Given the description of an element on the screen output the (x, y) to click on. 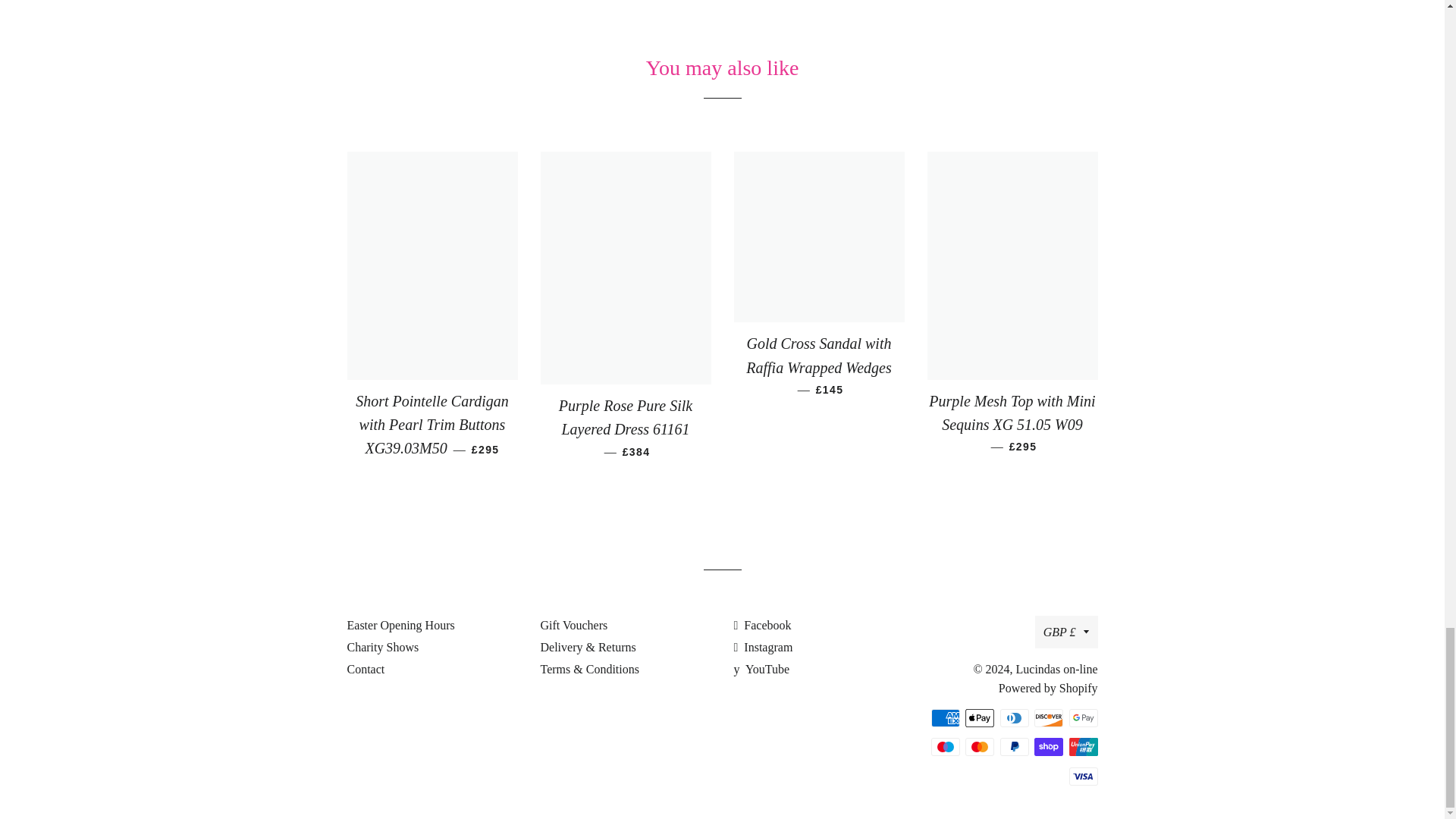
Union Pay (1082, 746)
Lucindas on-line on Facebook (762, 625)
American Express (945, 718)
Google Pay (1082, 718)
Lucindas on-line on YouTube (761, 668)
Mastercard (979, 746)
Discover (1047, 718)
Lucindas on-line on Instagram (763, 646)
Apple Pay (979, 718)
PayPal (1012, 746)
Shop Pay (1047, 746)
Maestro (945, 746)
Visa (1082, 776)
Diners Club (1012, 718)
